Given the description of an element on the screen output the (x, y) to click on. 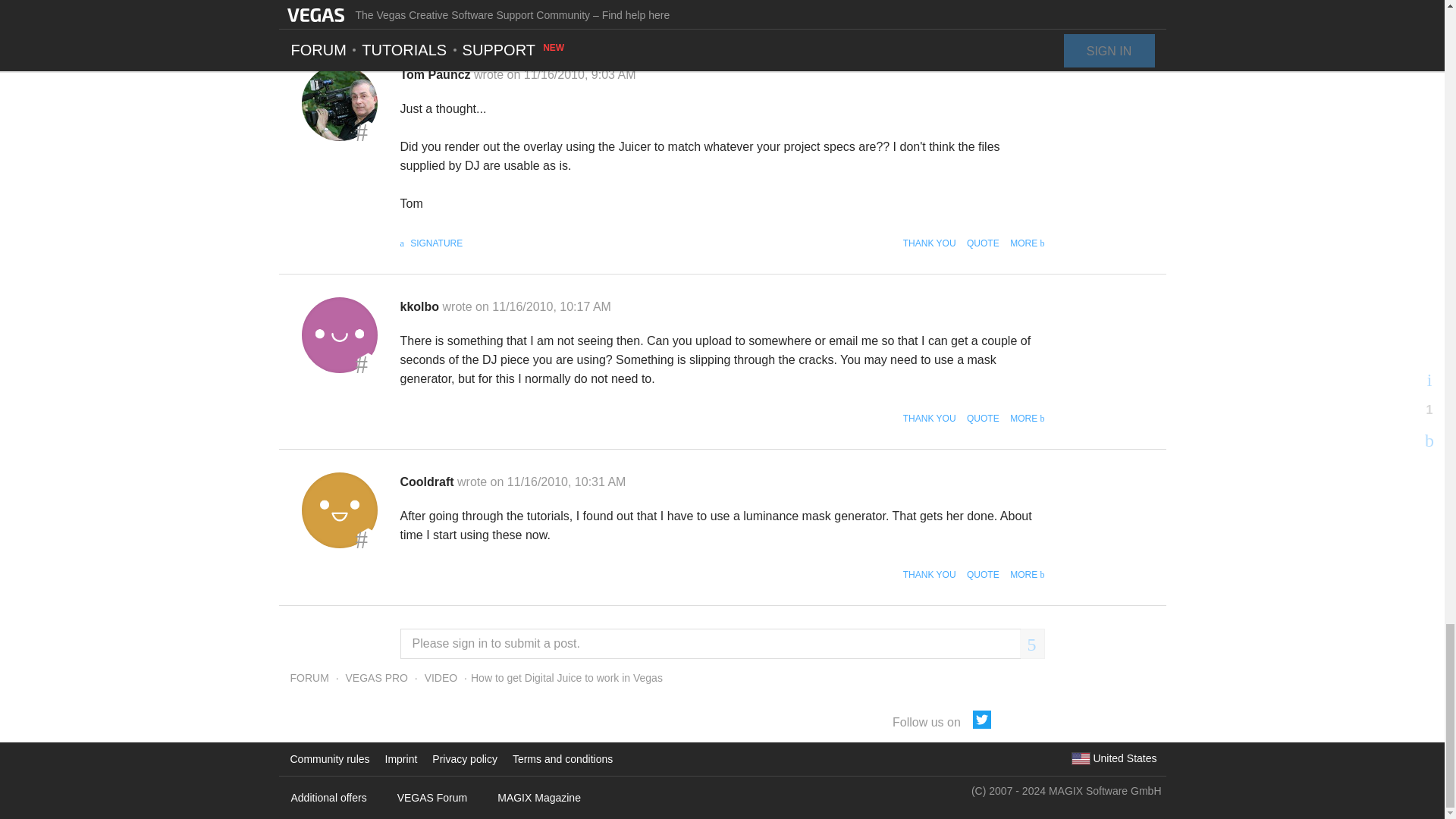
Cooldraft (339, 509)
kkolbo (339, 335)
Tom Pauncz (339, 102)
